Given the description of an element on the screen output the (x, y) to click on. 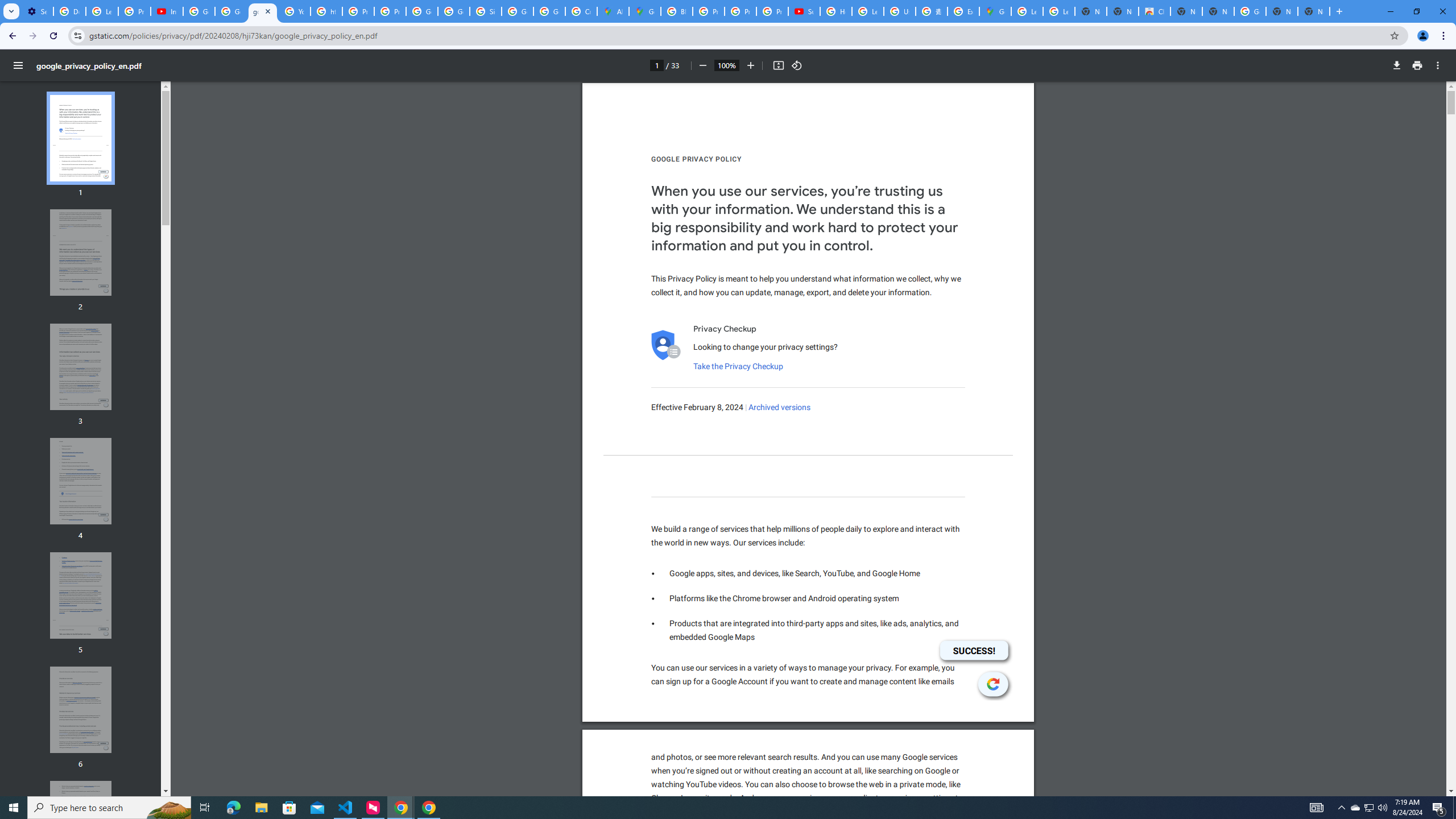
New Tab (1313, 11)
Thumbnail for page 3 (80, 366)
Chrome Web Store (1154, 11)
Zoom in (750, 65)
Explore new street-level details - Google Maps Help (963, 11)
Google Images (1249, 11)
More actions (1437, 65)
Introduction | Google Privacy Policy - YouTube (166, 11)
